Given the description of an element on the screen output the (x, y) to click on. 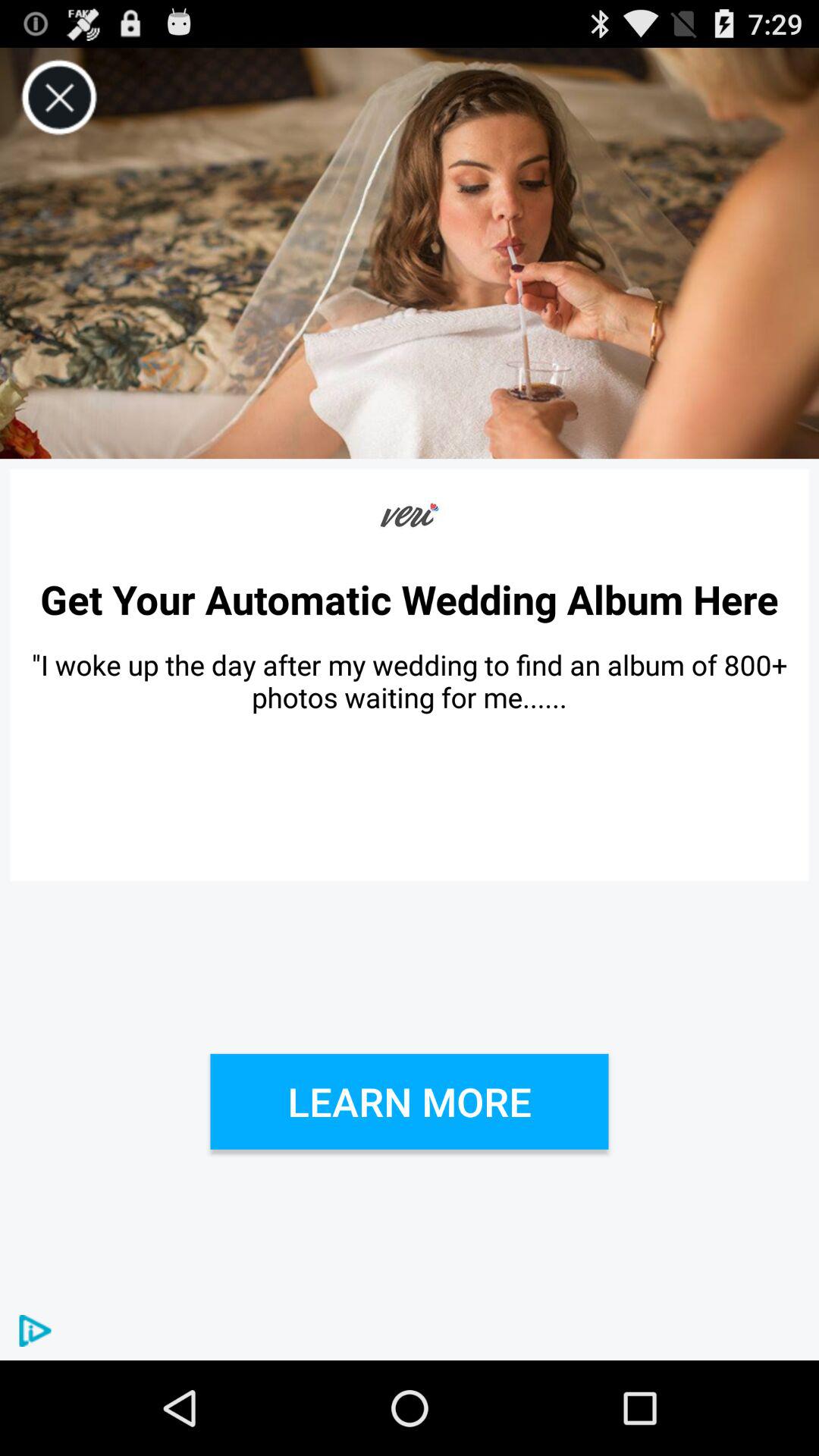
click icon above get your automatic app (409, 515)
